Given the description of an element on the screen output the (x, y) to click on. 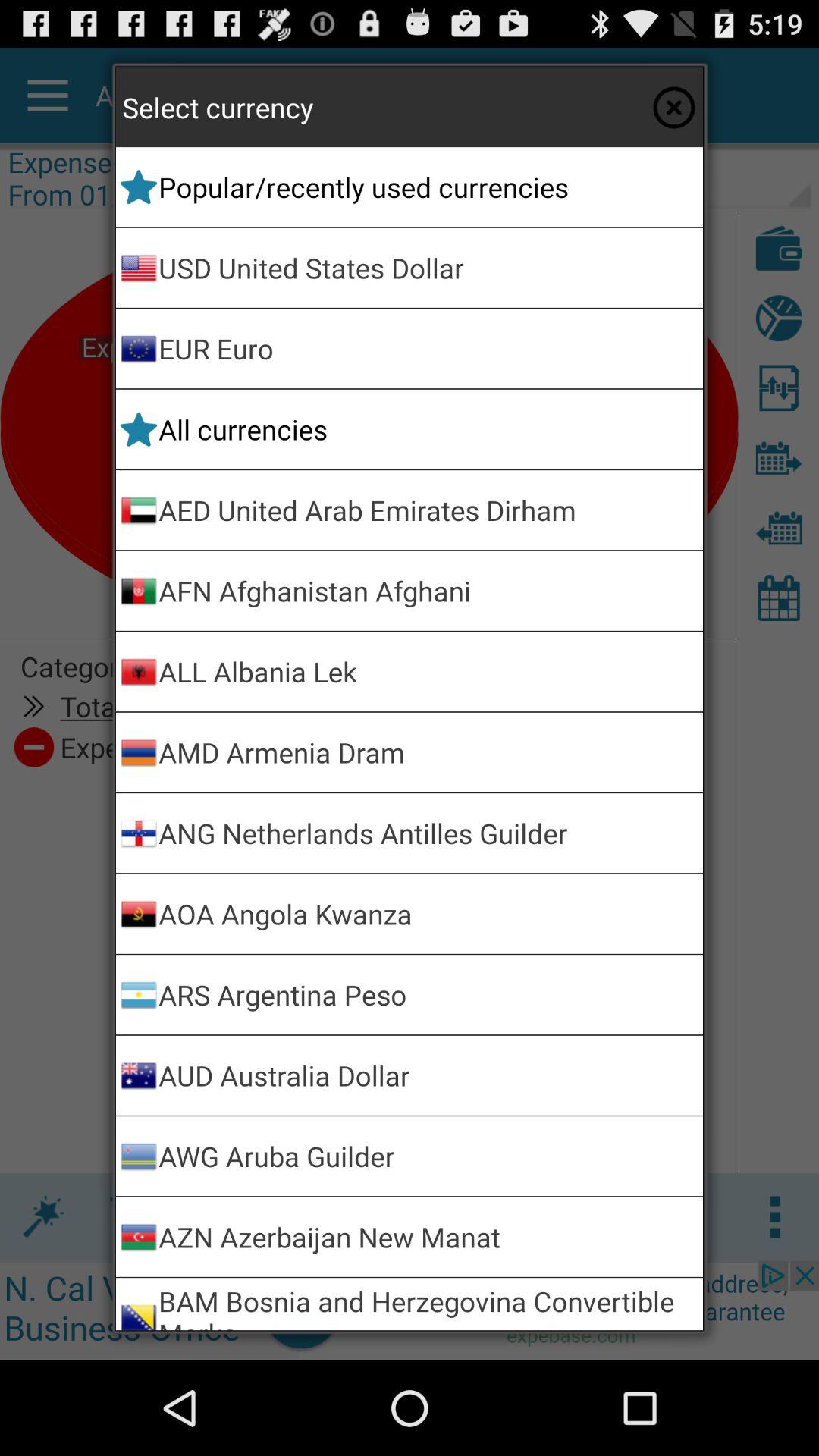
exit select currency (673, 107)
